Given the description of an element on the screen output the (x, y) to click on. 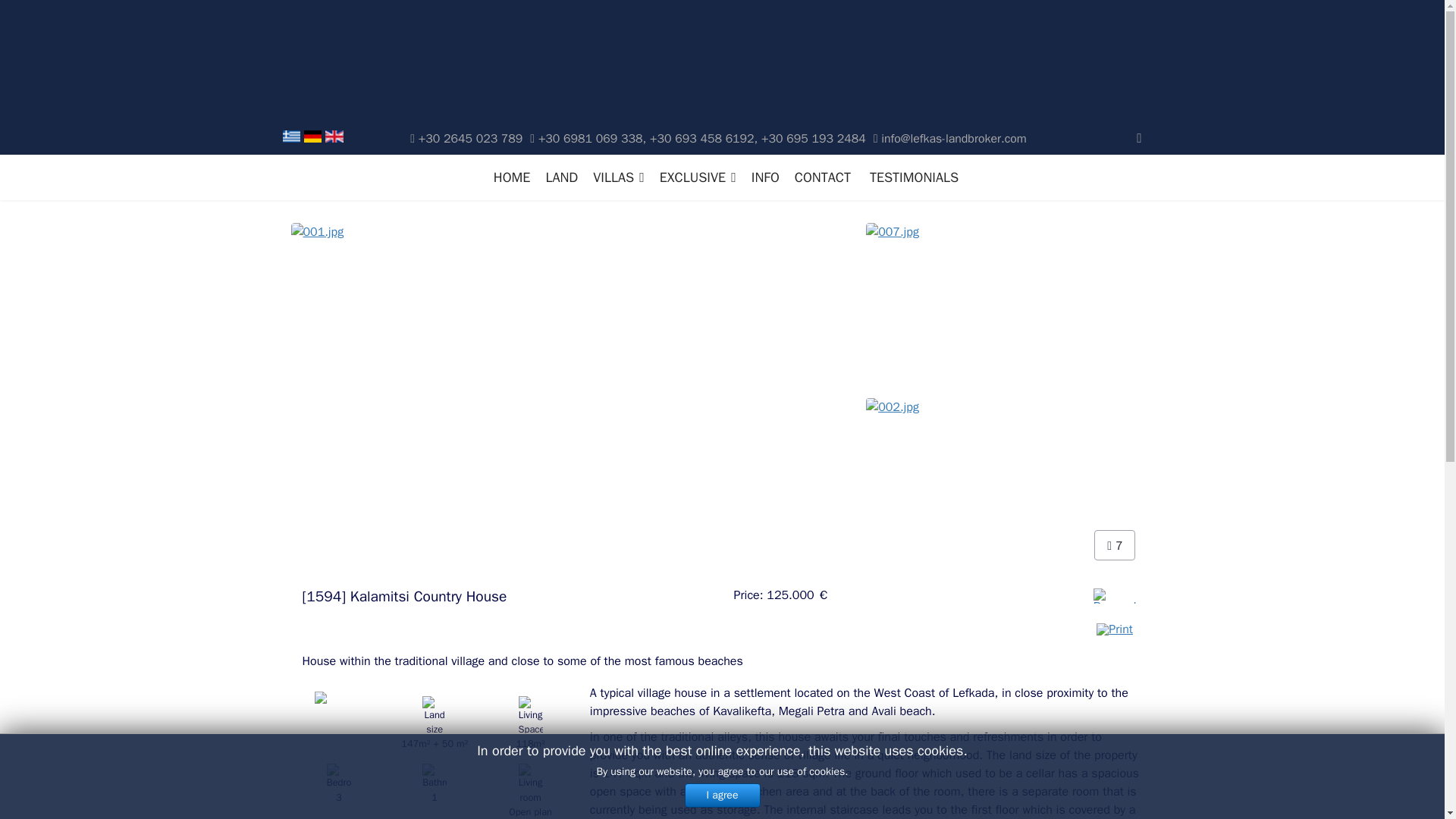
Orientation (339, 724)
Living room (529, 788)
CONTACT (823, 176)
TESTIMONIALS (908, 176)
Bedrooms (339, 788)
VILLAS (618, 176)
Bathrooms (434, 788)
HOME (512, 176)
INFO (765, 176)
LAND (561, 176)
